Given the description of an element on the screen output the (x, y) to click on. 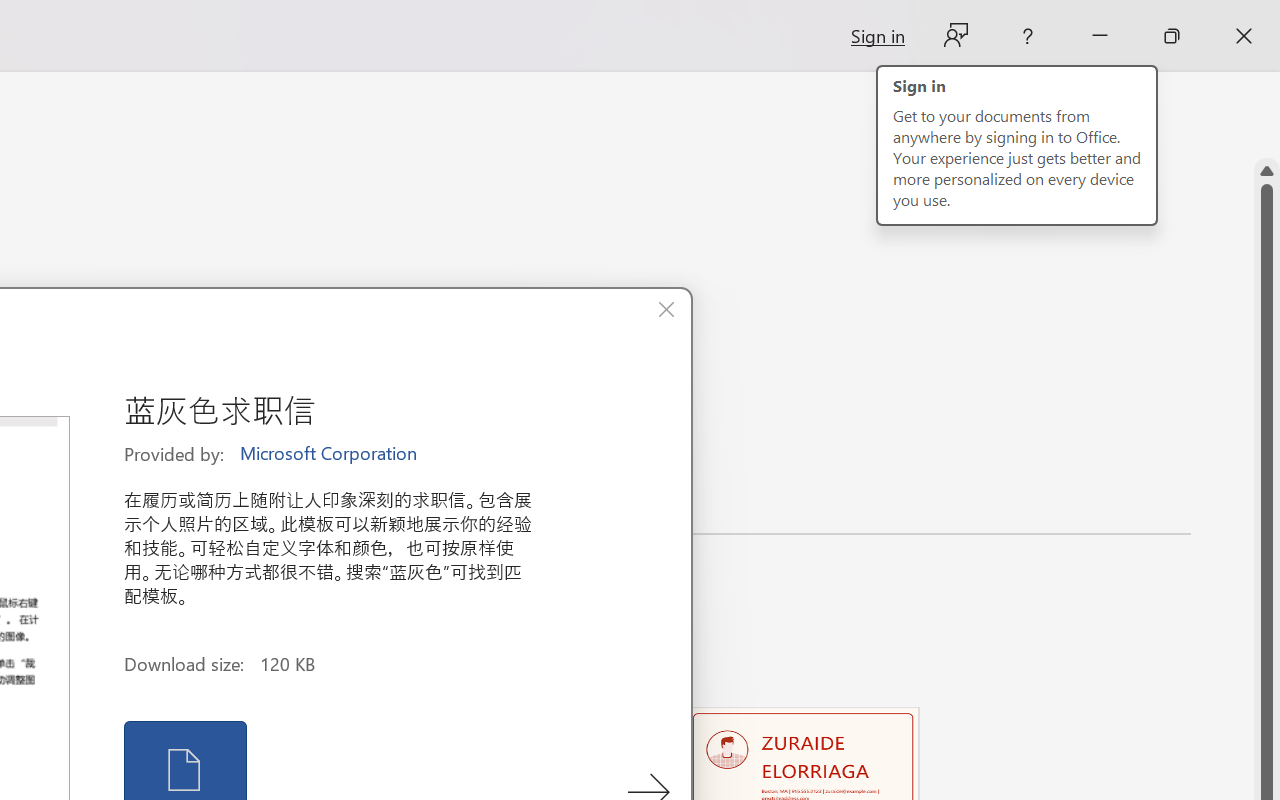
Line up (1267, 171)
Microsoft Corporation (330, 454)
